Given the description of an element on the screen output the (x, y) to click on. 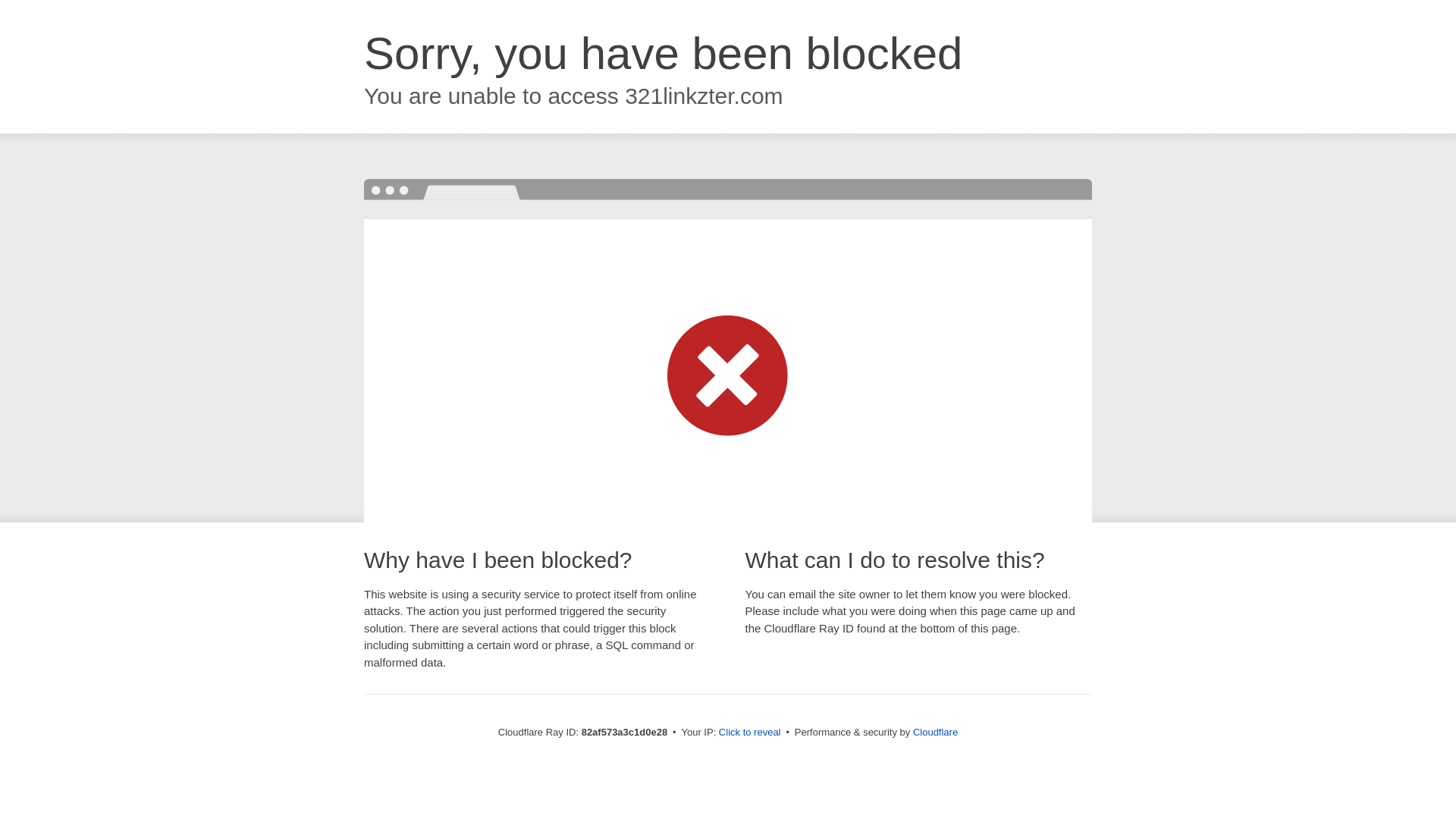
Cloudflare Element type: text (935, 731)
Click to reveal Element type: text (749, 732)
